Given the description of an element on the screen output the (x, y) to click on. 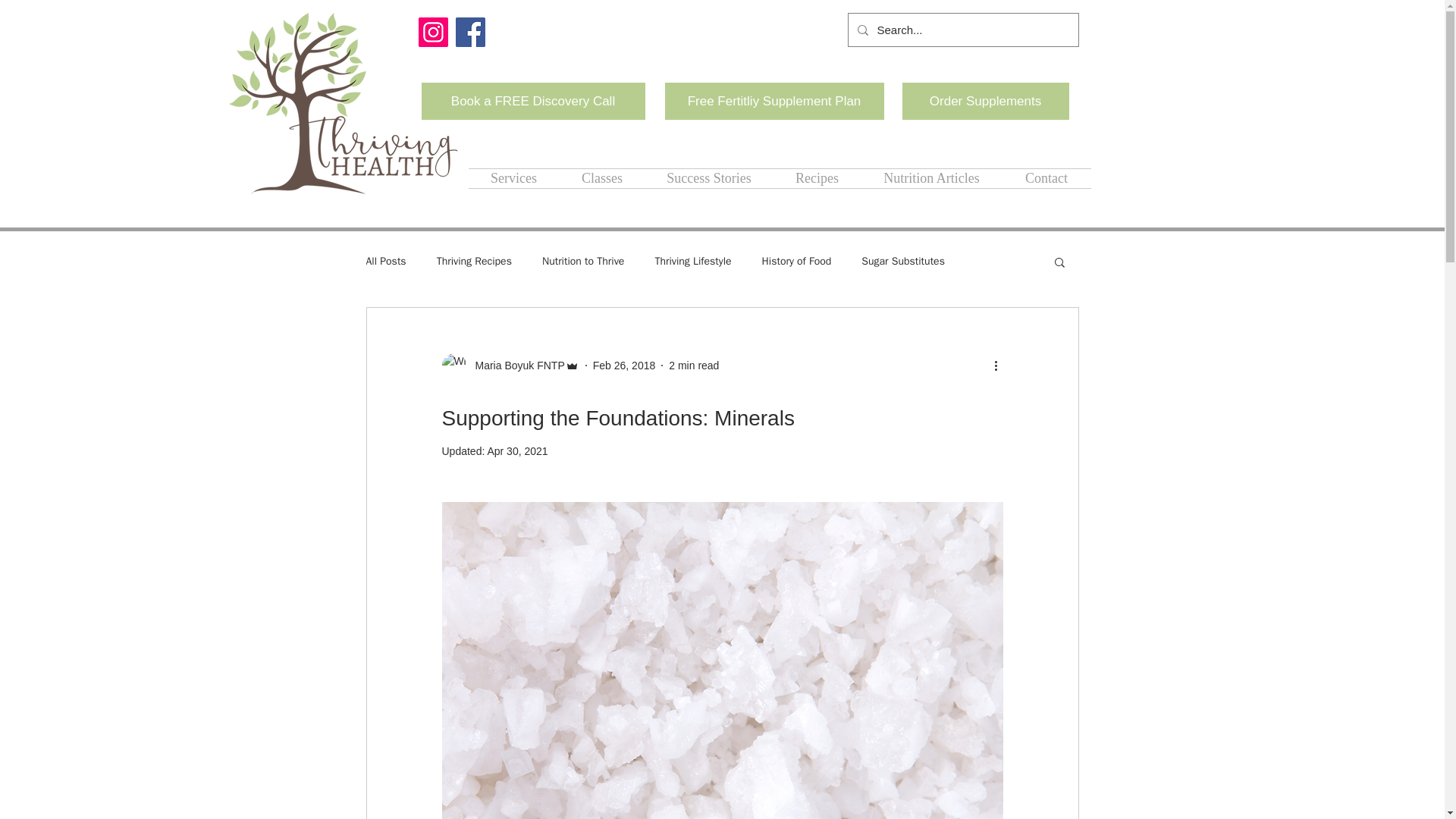
Maria Boyuk FNTP (514, 365)
All Posts (385, 261)
Contact (1046, 178)
Order Supplements (985, 100)
2 min read (693, 365)
Feb 26, 2018 (624, 365)
History of Food (796, 261)
Thriving Lifestyle (691, 261)
Thriving Recipes (474, 261)
Sugar Substitutes (902, 261)
Nutrition Articles (932, 178)
Book a FREE Discovery Call (533, 100)
Classes (602, 178)
Maria Boyuk FNTP (509, 364)
Nutrition to Thrive (582, 261)
